Given the description of an element on the screen output the (x, y) to click on. 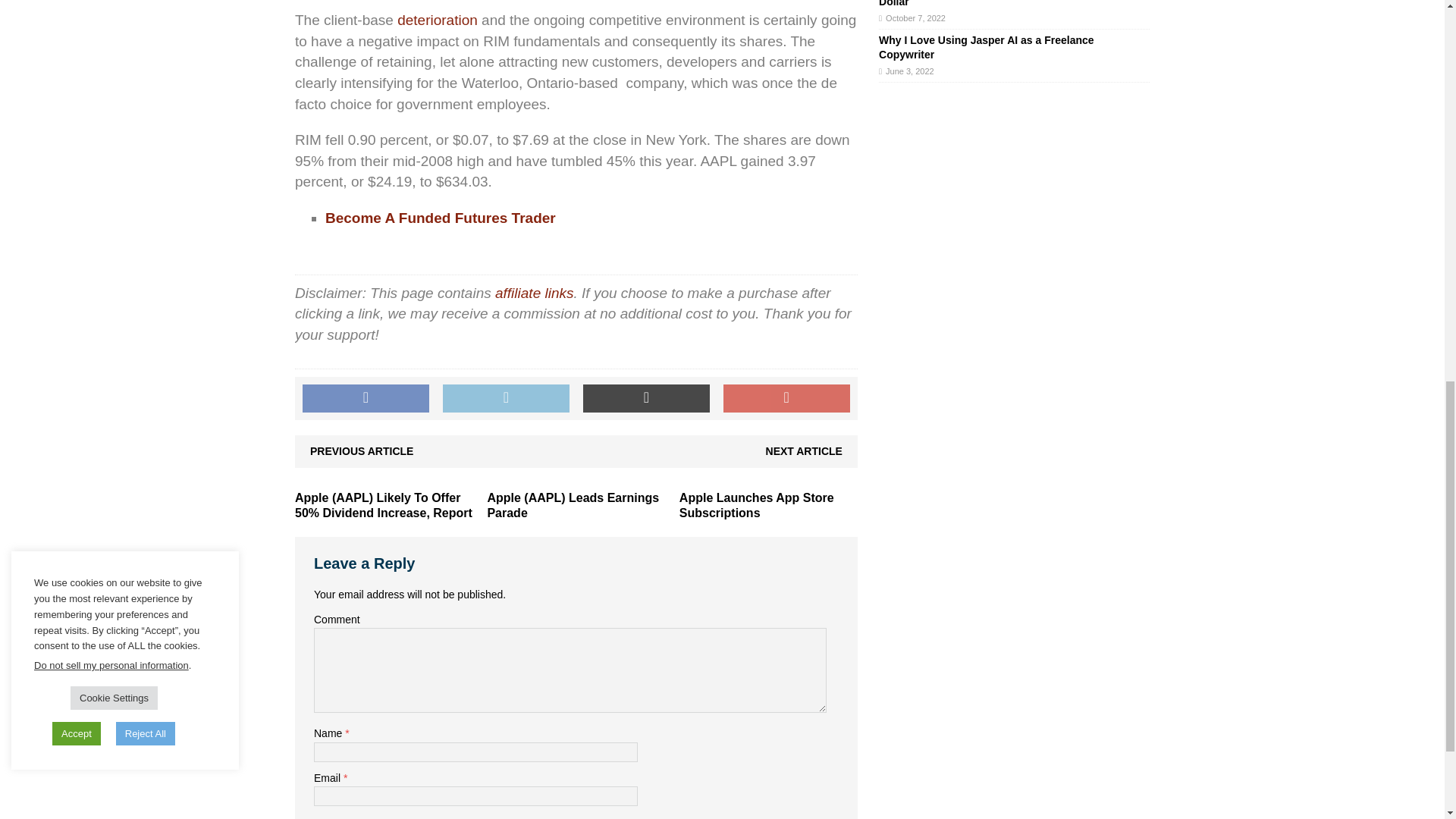
Share on Facebook (365, 398)
Share on Reddit (646, 398)
Apple Launches App Store Subscriptions (756, 505)
Tweet This Post (505, 398)
